Given the description of an element on the screen output the (x, y) to click on. 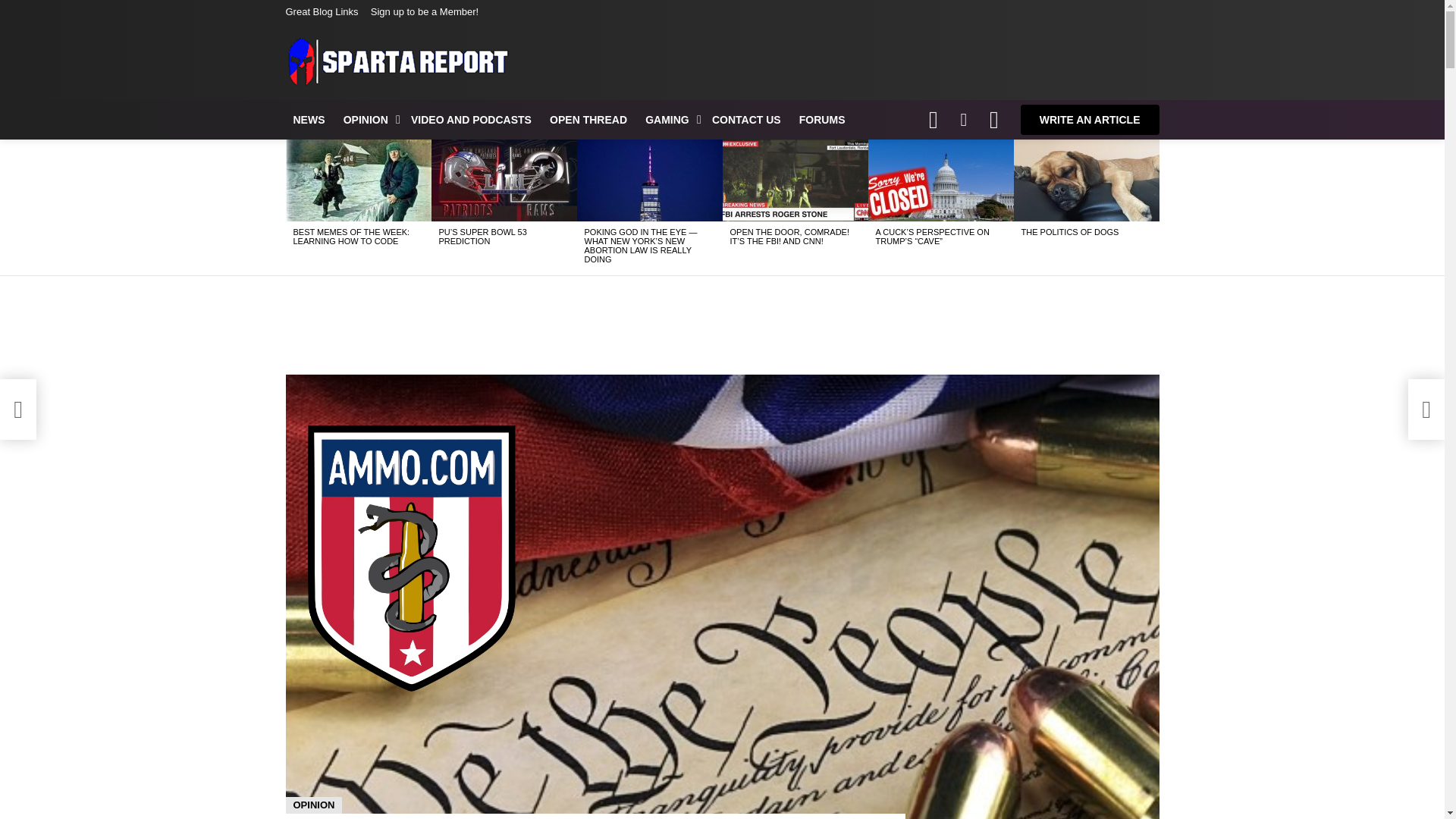
VIDEO AND PODCASTS (470, 119)
Advertisement (721, 325)
GAMING (669, 119)
OPINION (368, 119)
Sign up to be a Member! (425, 12)
OPEN THREAD (587, 119)
WRITE AN ARTICLE (1089, 119)
CONTACT US (746, 119)
BEST MEMES OF THE WEEK: LEARNING HOW TO CODE (350, 236)
FORUMS (822, 119)
Best Memes of the Week: Learning How To Code (357, 180)
NEWS (308, 119)
Great Blog Links (321, 12)
The Politics of Dogs (1085, 180)
